Given the description of an element on the screen output the (x, y) to click on. 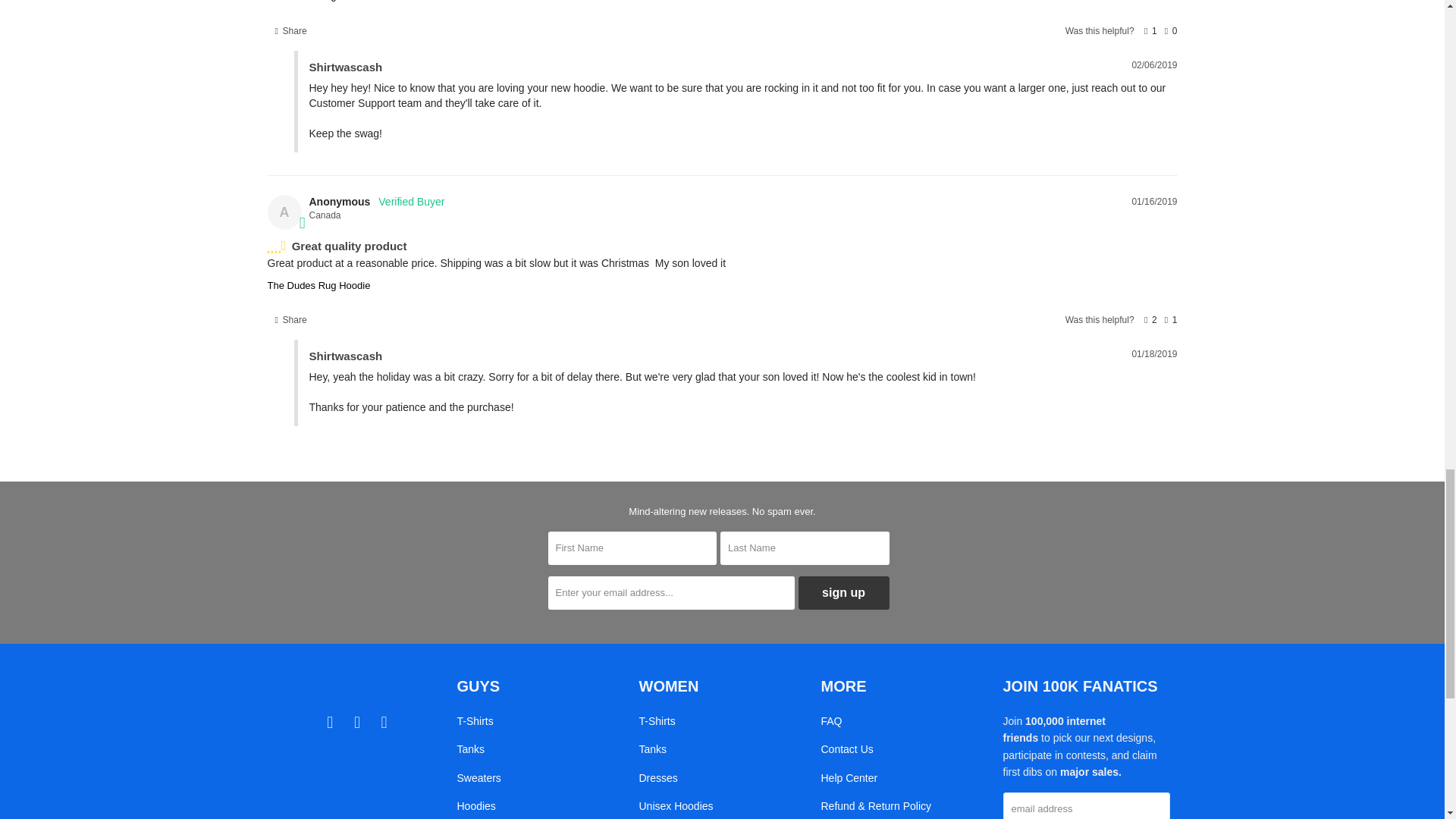
Shirtwascash on Facebook (357, 722)
Shirtwascash on Twitter (330, 722)
Sign Up (842, 592)
Shirtwascash on Instagram (384, 722)
